Given the description of an element on the screen output the (x, y) to click on. 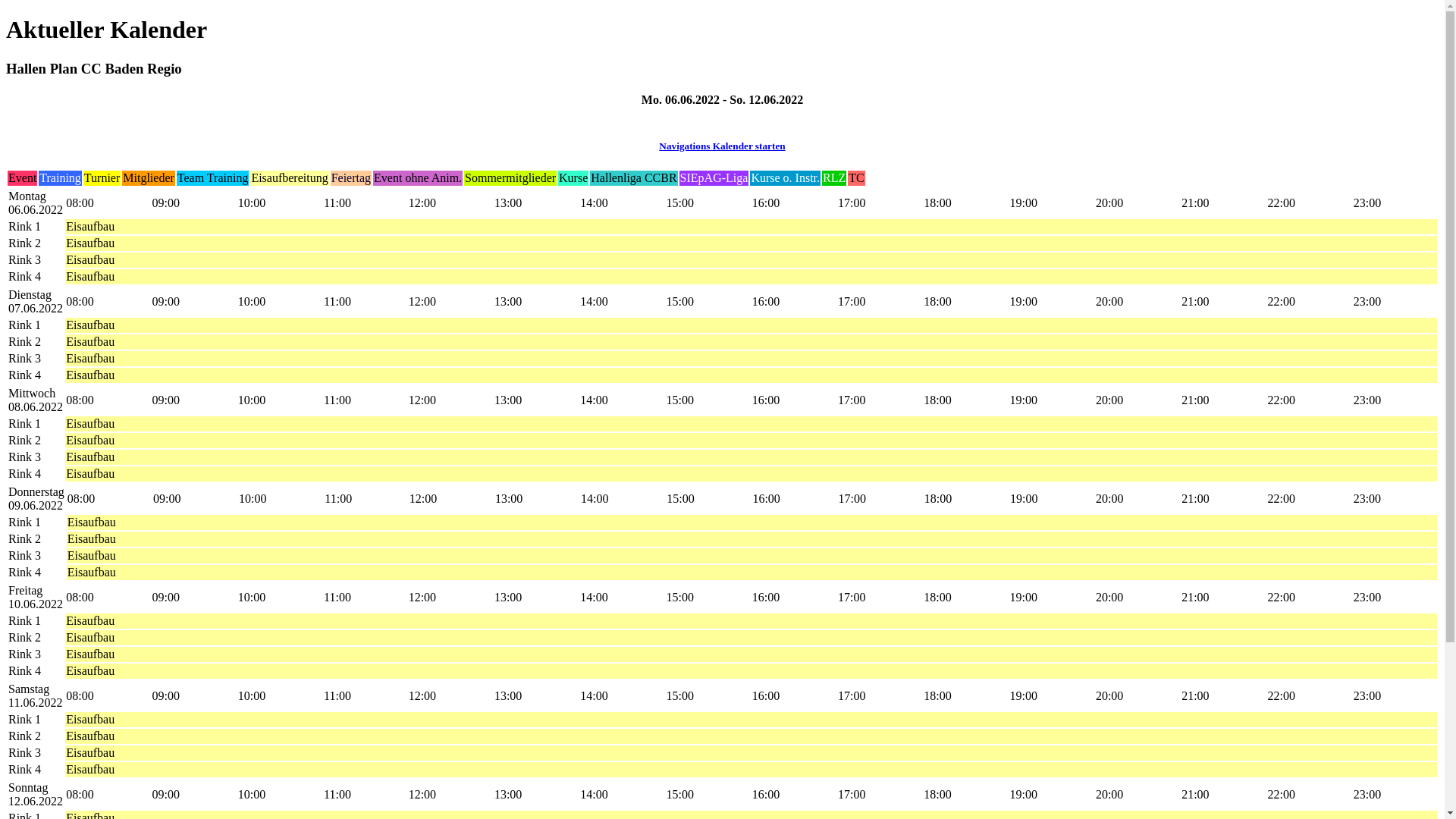
Navigations Kalender starten Element type: text (721, 145)
